Given the description of an element on the screen output the (x, y) to click on. 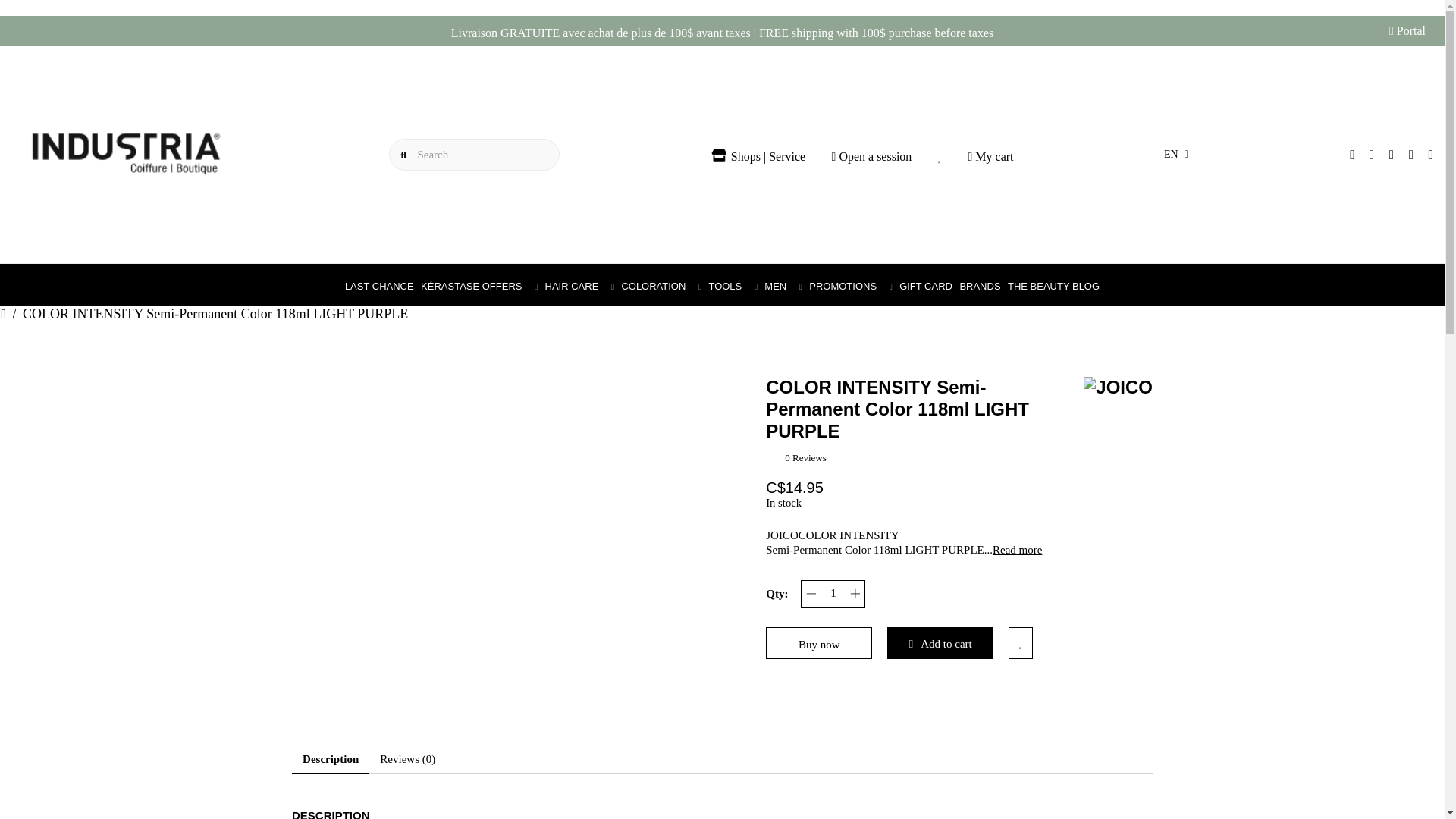
LAST CHANCE (379, 285)
PROMOTIONS (850, 285)
Open a session (871, 155)
MEN (783, 285)
My cart (990, 155)
HAIR CARE (579, 285)
1 (833, 593)
0 Reviews (805, 458)
COLORATION (661, 285)
TOOLS (732, 285)
Portal (1407, 30)
